Given the description of an element on the screen output the (x, y) to click on. 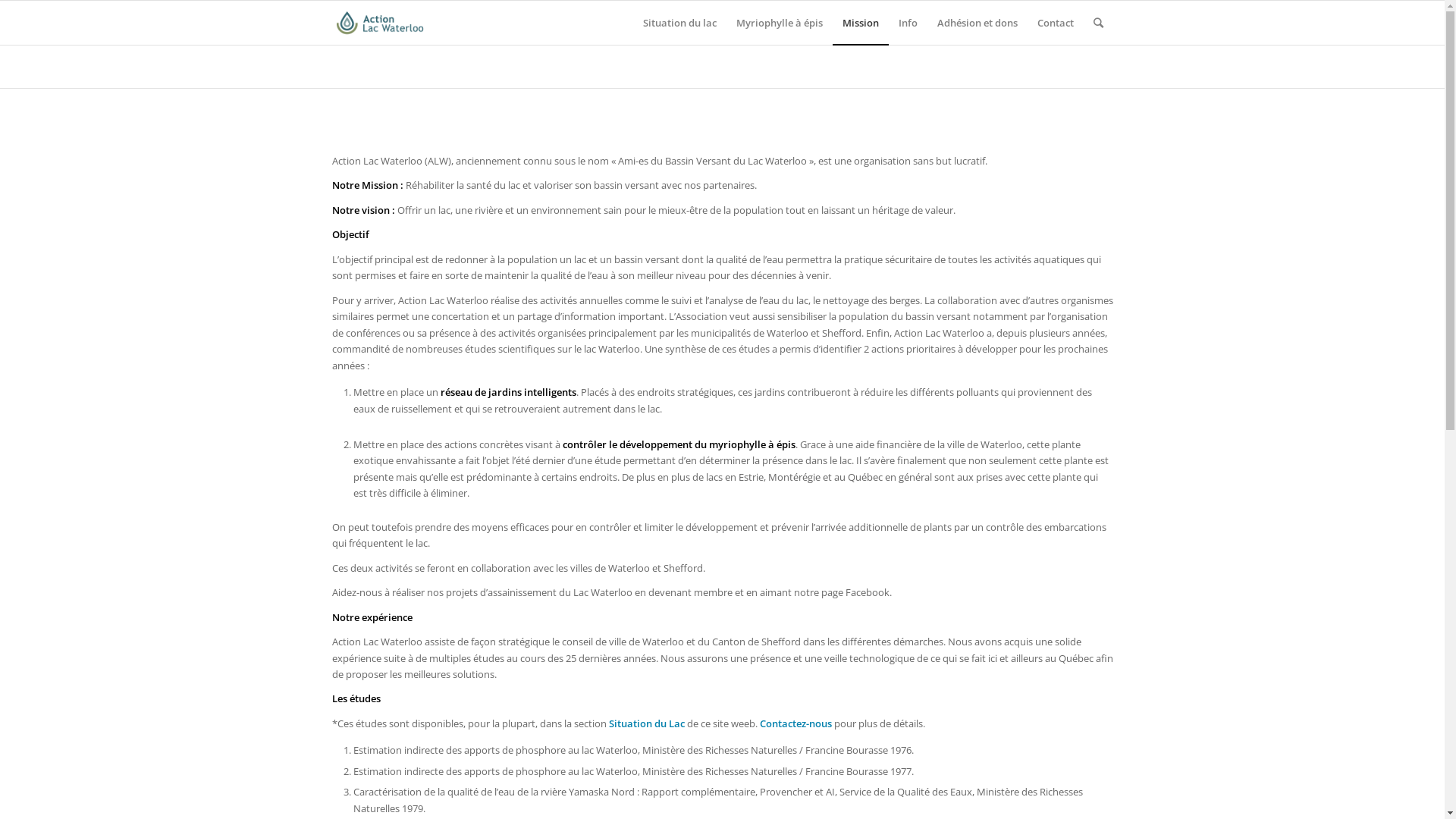
Info Element type: text (907, 22)
Contact Element type: text (1054, 22)
Situation du lac Element type: text (678, 22)
Contactez-nous Element type: text (795, 723)
Mission Element type: text (860, 22)
Situation du Lac Element type: text (646, 723)
